Given the description of an element on the screen output the (x, y) to click on. 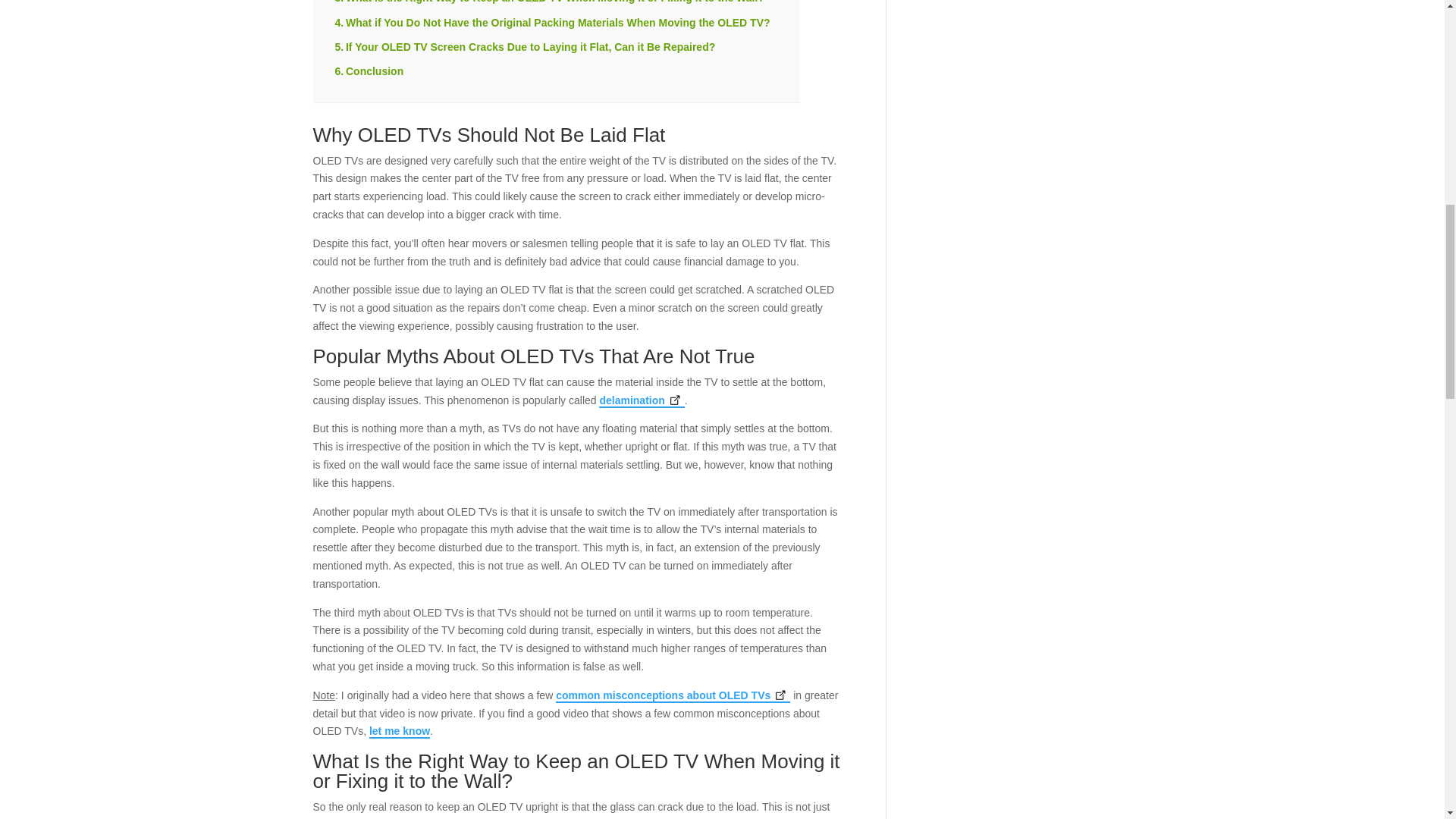
Conclusion (369, 71)
